Given the description of an element on the screen output the (x, y) to click on. 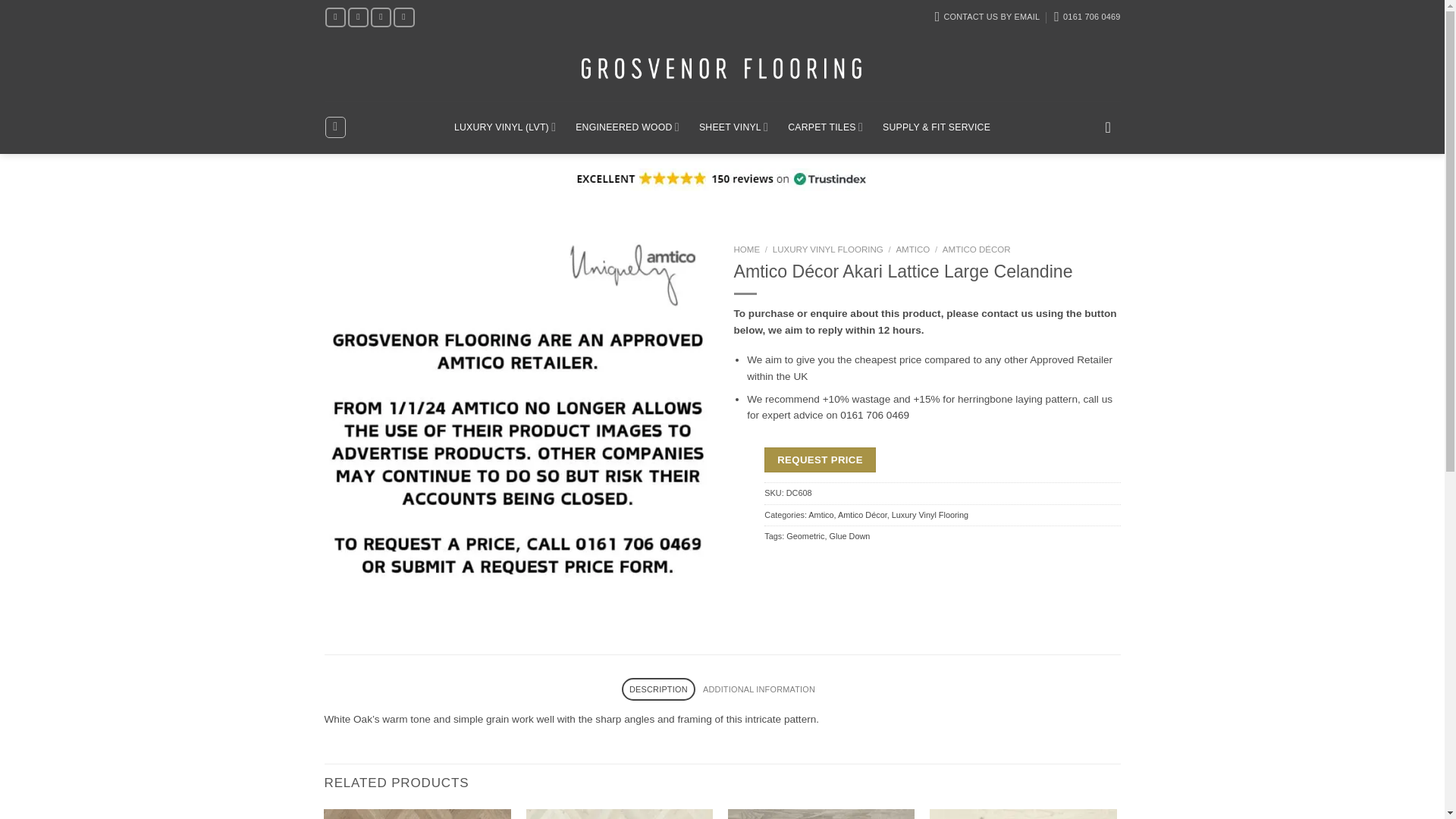
0161 706 0469 (1086, 16)
0161 706 0469 (1086, 16)
Basket (1113, 127)
Send us an email (381, 17)
CONTACT US BY EMAIL (987, 16)
Follow on Instagram (358, 17)
Follow on Facebook (335, 17)
Call us (403, 17)
